Given the description of an element on the screen output the (x, y) to click on. 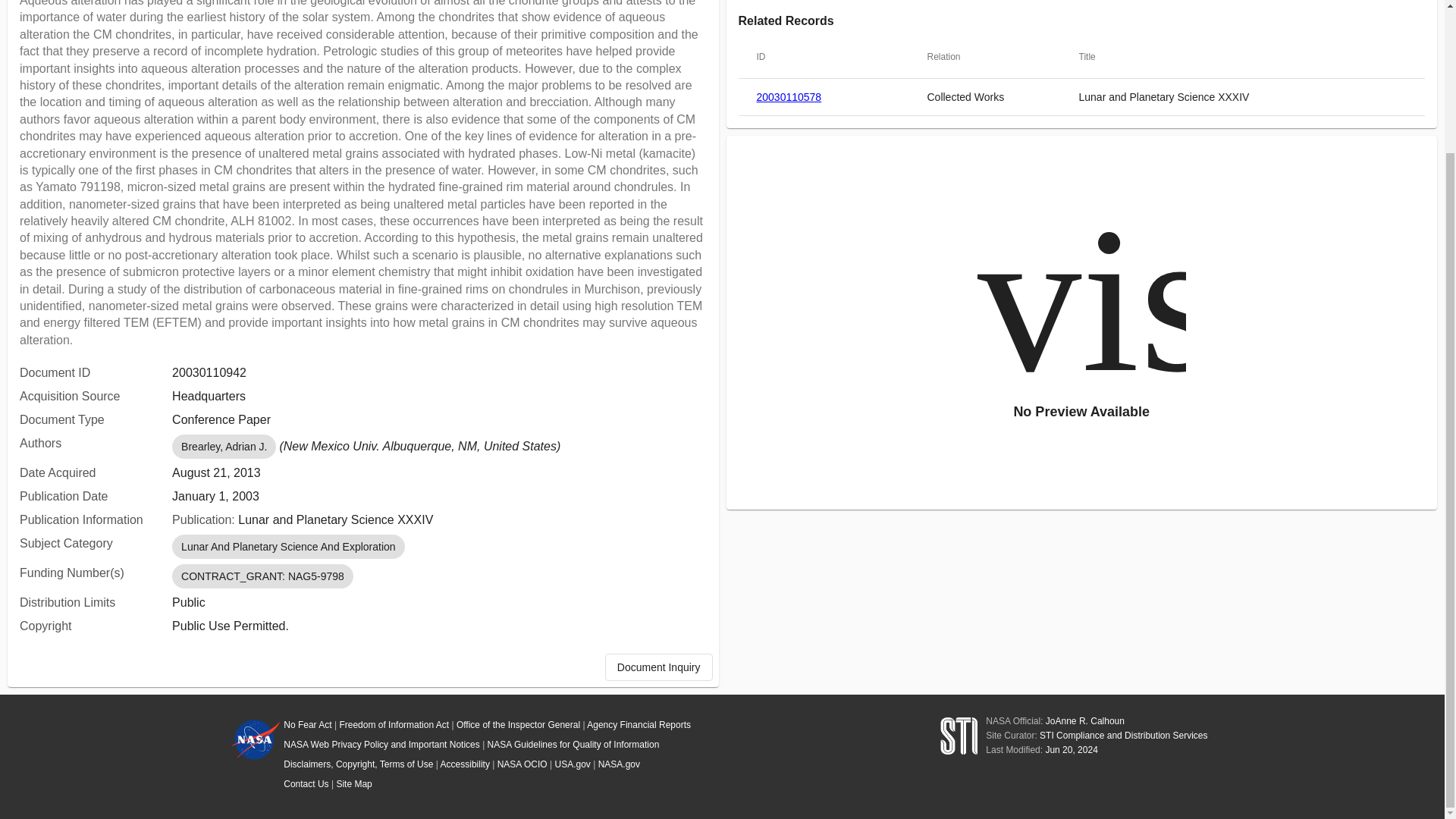
Site Map (353, 783)
STI Compliance and Distribution Services (1123, 735)
USA.gov (572, 764)
NASA Web Privacy Policy and Important Notices (381, 744)
20030110578 (789, 96)
Agency Financial Reports (638, 724)
Freedom of Information Act (393, 724)
NASA Guidelines for Quality of Information (573, 744)
Accessibility (465, 764)
Disclaimers, Copyright, Terms of Use (357, 764)
Office of the Inspector General (518, 724)
Document Inquiry (659, 666)
NASA.gov (619, 764)
NASA OCIO (522, 764)
Contact Us (306, 783)
